Given the description of an element on the screen output the (x, y) to click on. 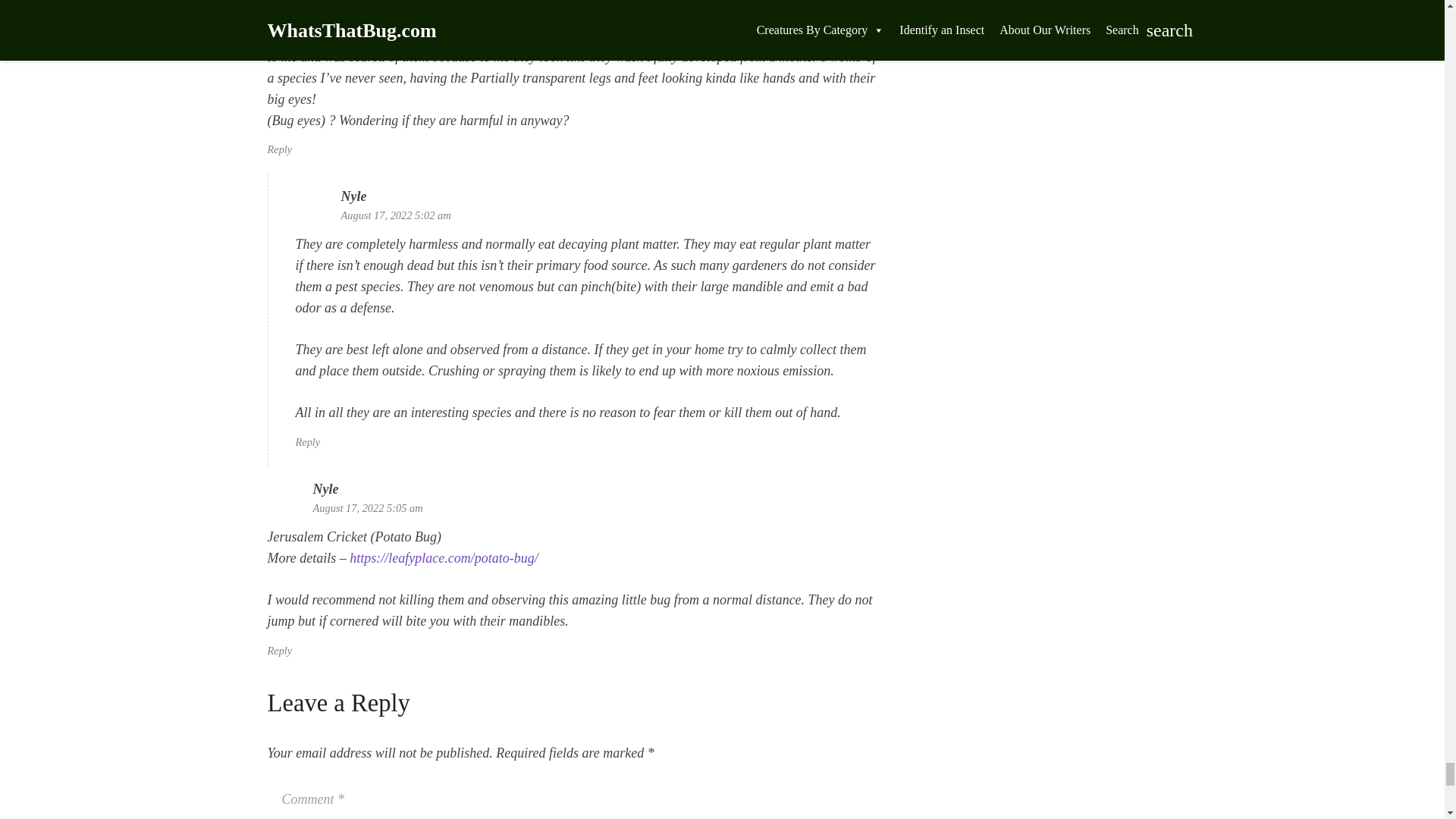
August 17, 2022 5:05 am (367, 508)
August 17, 2022 5:02 am (395, 215)
February 10, 2020 8:18 pm (372, 6)
